Given the description of an element on the screen output the (x, y) to click on. 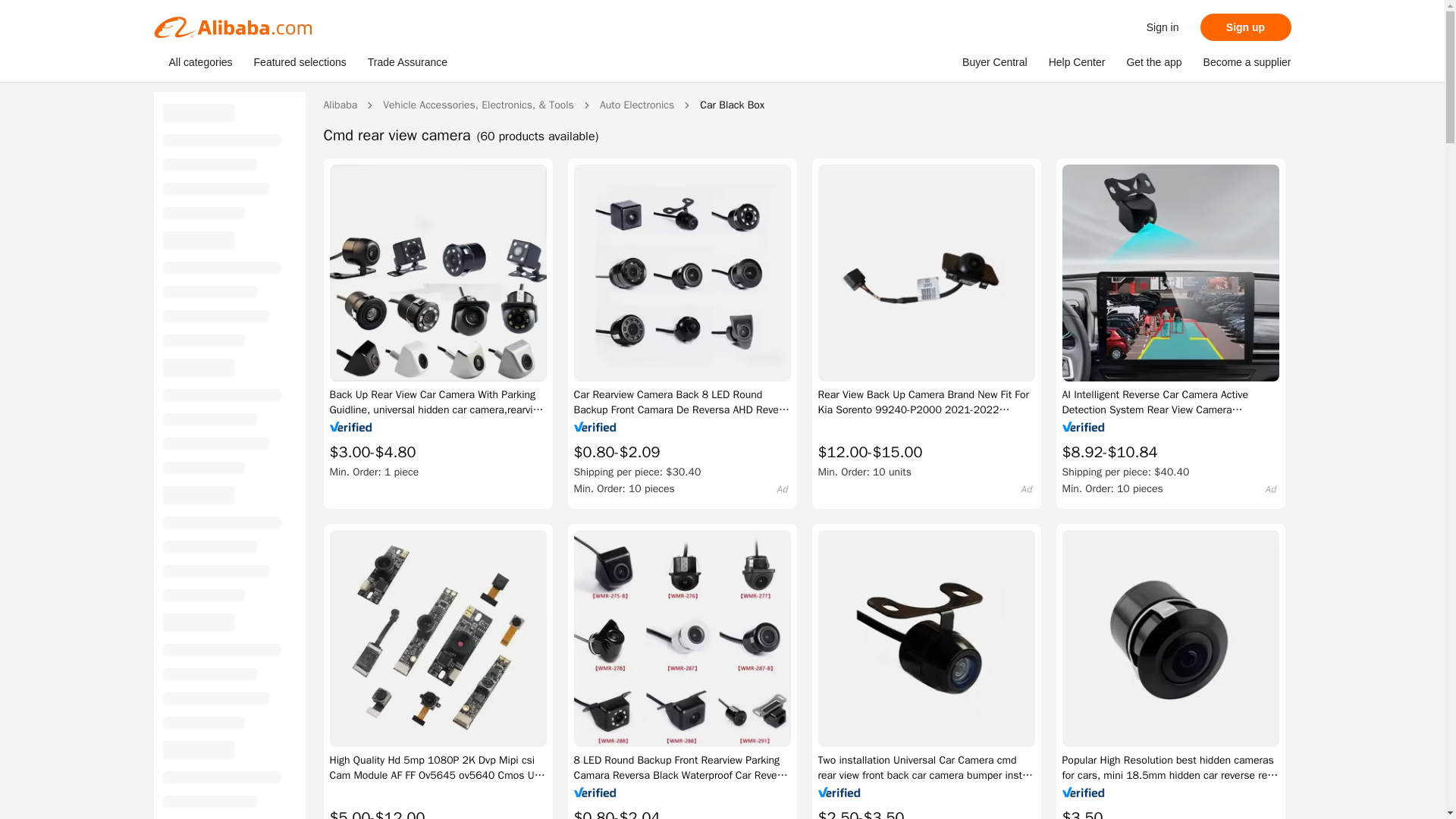
Auto Electronics (636, 105)
Alibaba (339, 105)
